Given the description of an element on the screen output the (x, y) to click on. 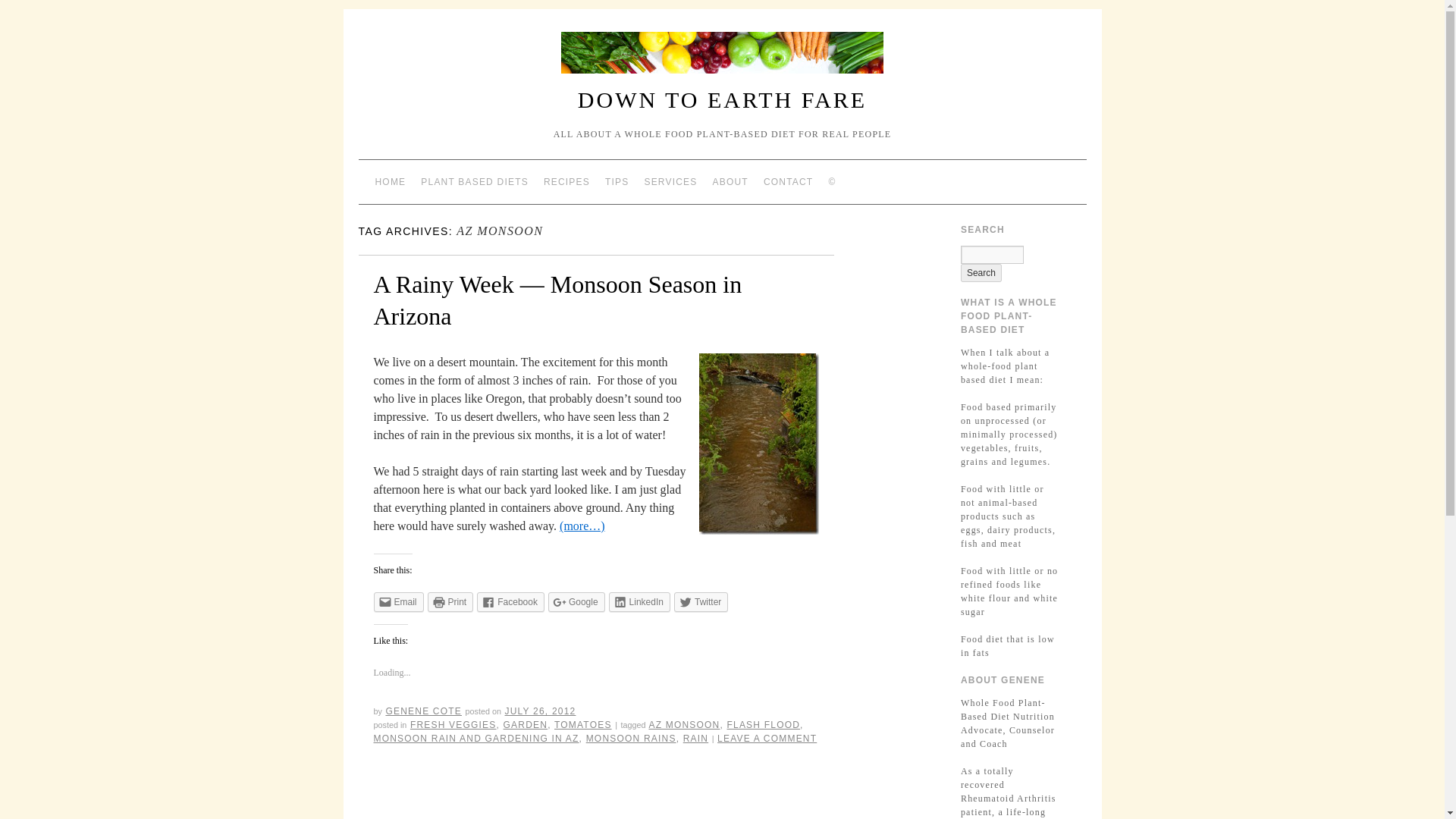
TOMATOES (582, 724)
PLANT BASED DIETS (474, 181)
Click to share on Twitter (701, 601)
HOME (389, 181)
Click to share on LinkedIn (638, 601)
GENENE COTE (423, 710)
Google (576, 601)
LinkedIn (638, 601)
Facebook (510, 601)
FRESH VEGGIES (453, 724)
